Given the description of an element on the screen output the (x, y) to click on. 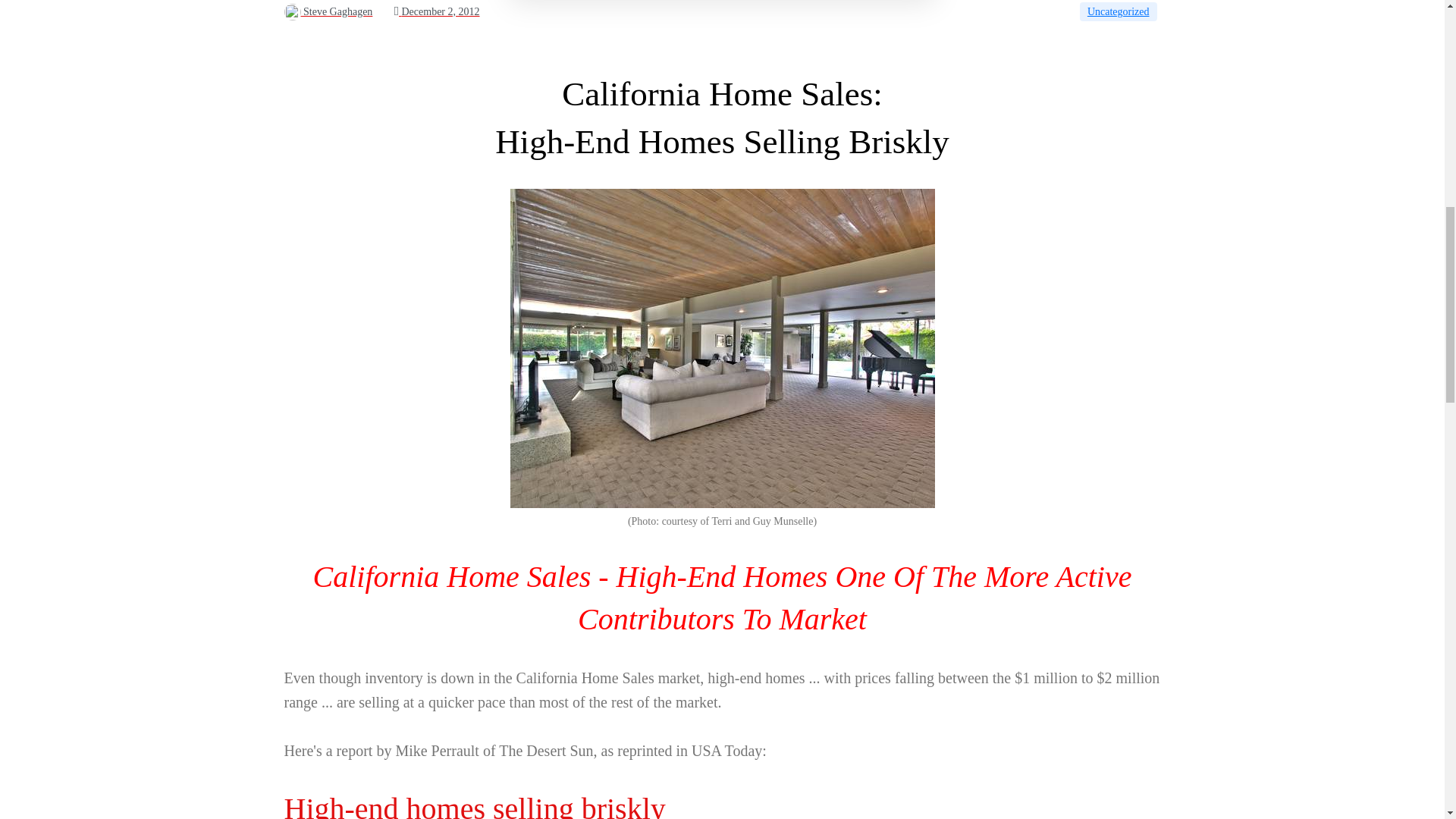
December 2, 2012 (437, 11)
Steve Gaghagen (327, 11)
Uncategorized (1118, 11)
High-end homes selling briskly (474, 805)
